Given the description of an element on the screen output the (x, y) to click on. 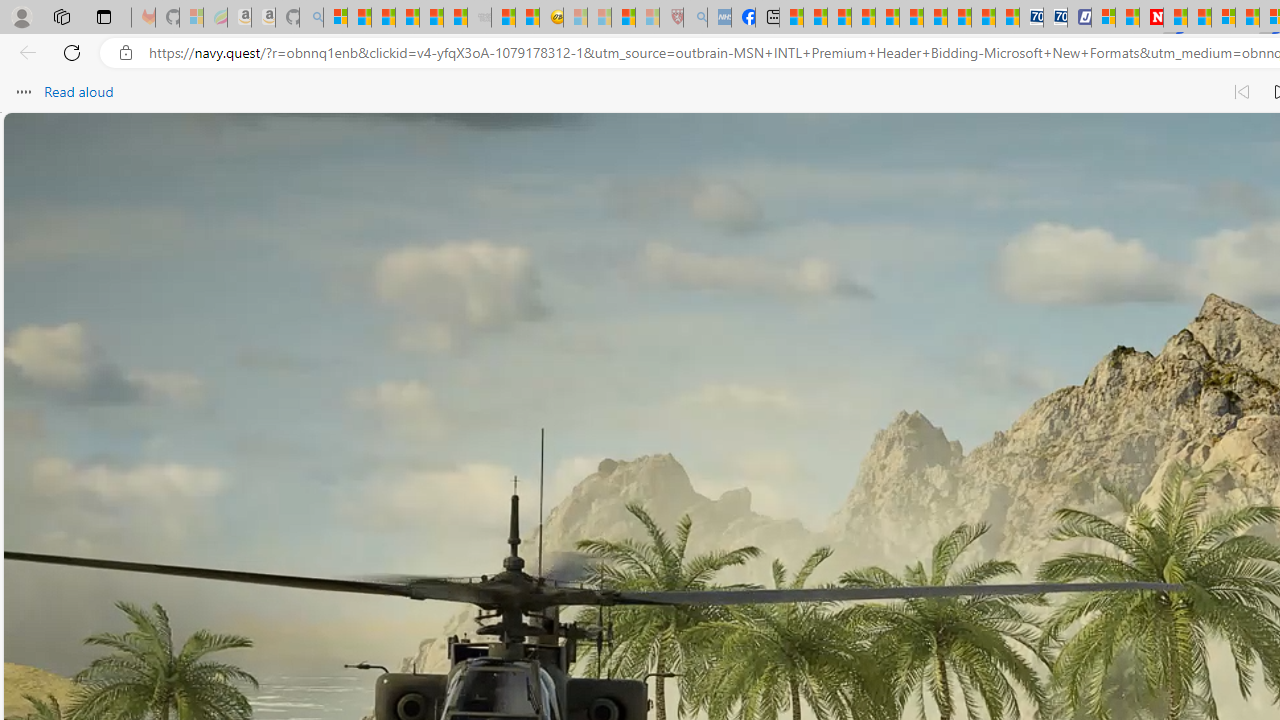
The Weather Channel - MSN (383, 17)
Stocks - MSN (455, 17)
Latest Politics News & Archive | Newsweek.com (1151, 17)
Cheap Hotels - Save70.com (1055, 17)
12 Popular Science Lies that Must be Corrected - Sleeping (647, 17)
